Given the description of an element on the screen output the (x, y) to click on. 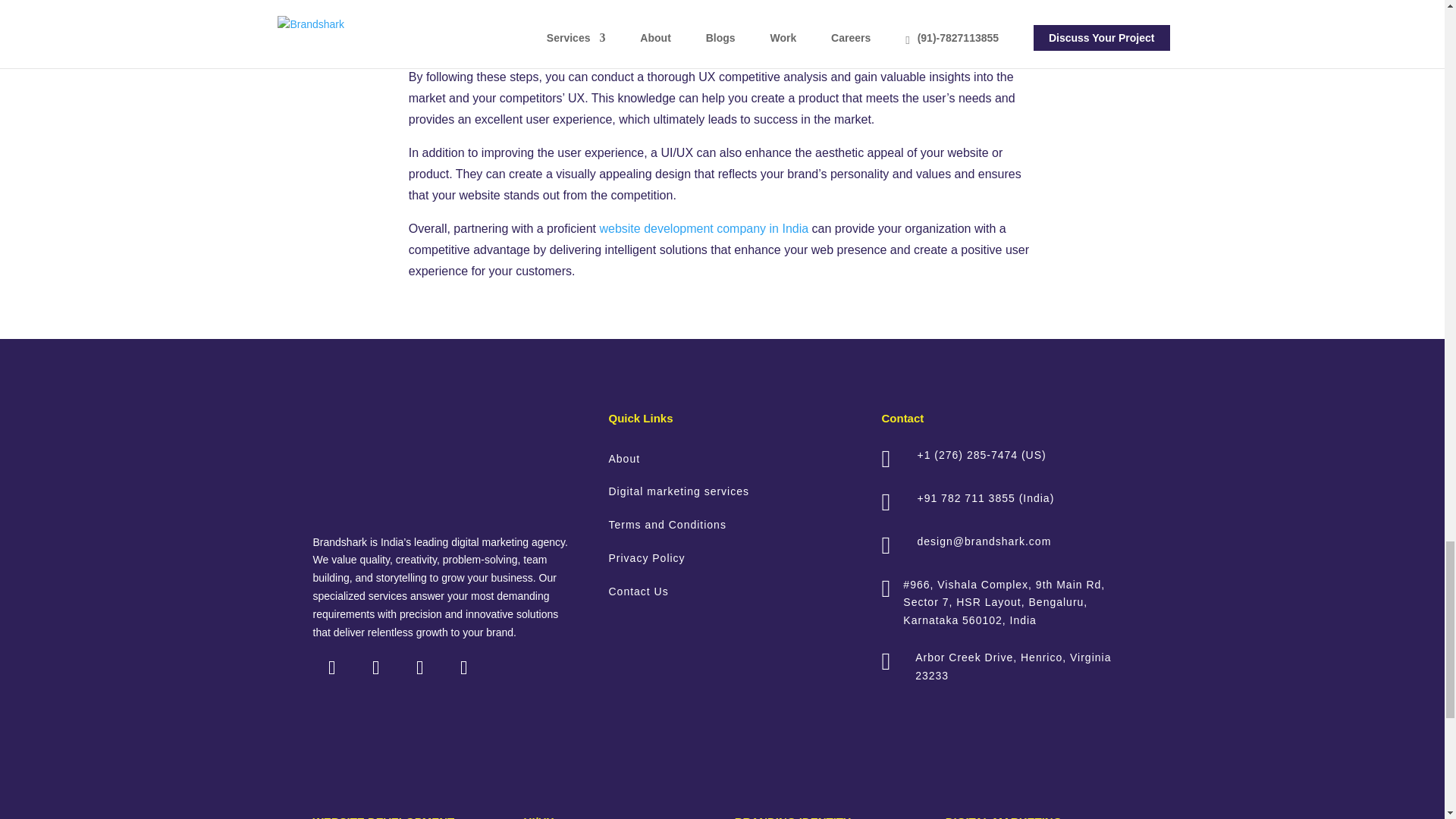
bs-logo-white (415, 461)
Follow on Facebook (462, 668)
Follow on Instagram (375, 668)
Follow on LinkedIn (331, 668)
Follow on X (419, 668)
website development company in India (703, 228)
